Given the description of an element on the screen output the (x, y) to click on. 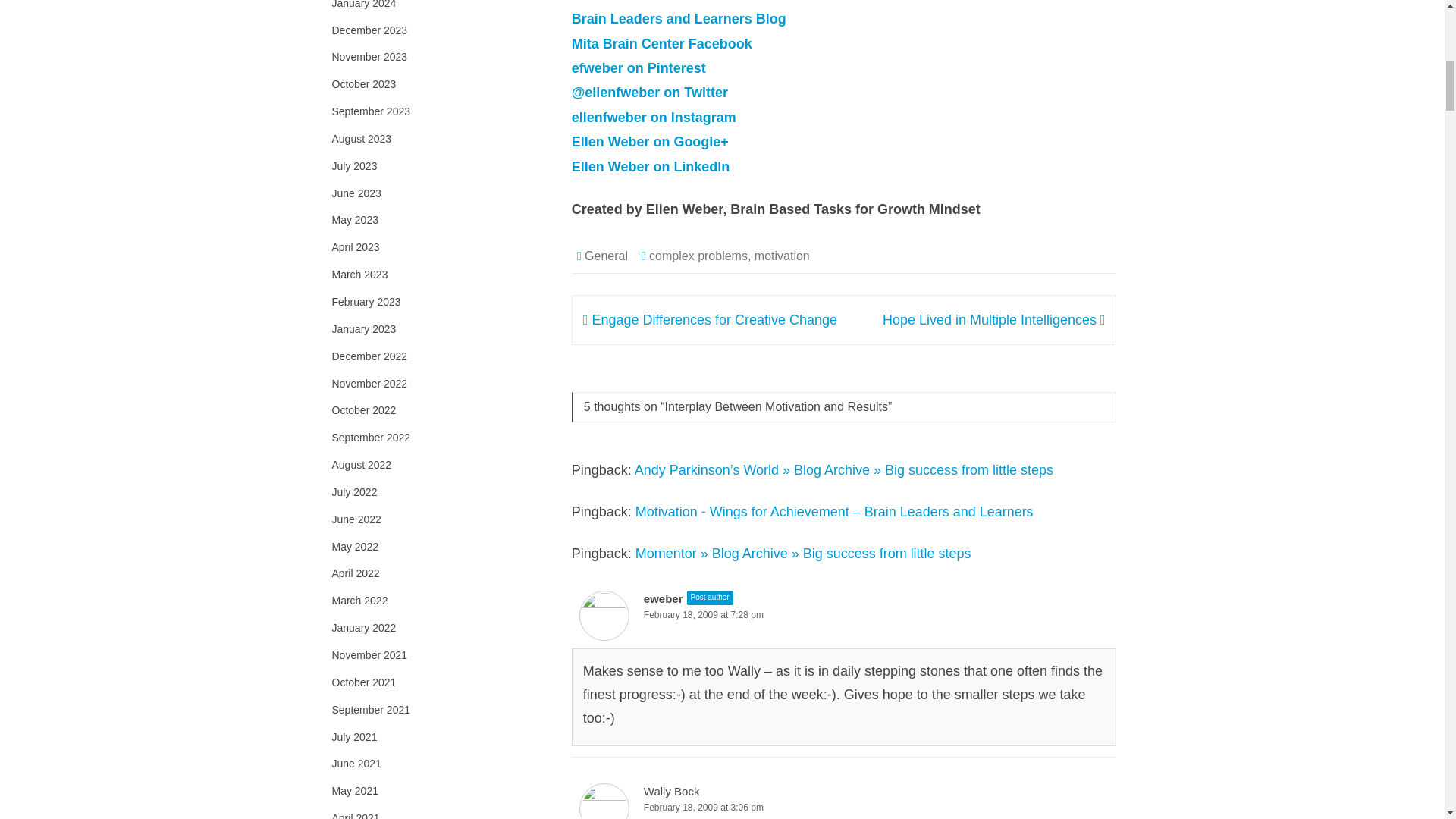
General (606, 255)
Mita Brain Center Facebook (662, 43)
Engage Differences for Creative Change (710, 319)
Hope Lived in Multiple Intelligences (993, 319)
ellenfweber on Instagram (654, 117)
Ellen Weber on LinkedIn (651, 166)
Wally Bock (671, 790)
motivation (781, 255)
February 18, 2009 at 3:06 pm (844, 807)
February 18, 2009 at 7:28 pm (844, 615)
